Given the description of an element on the screen output the (x, y) to click on. 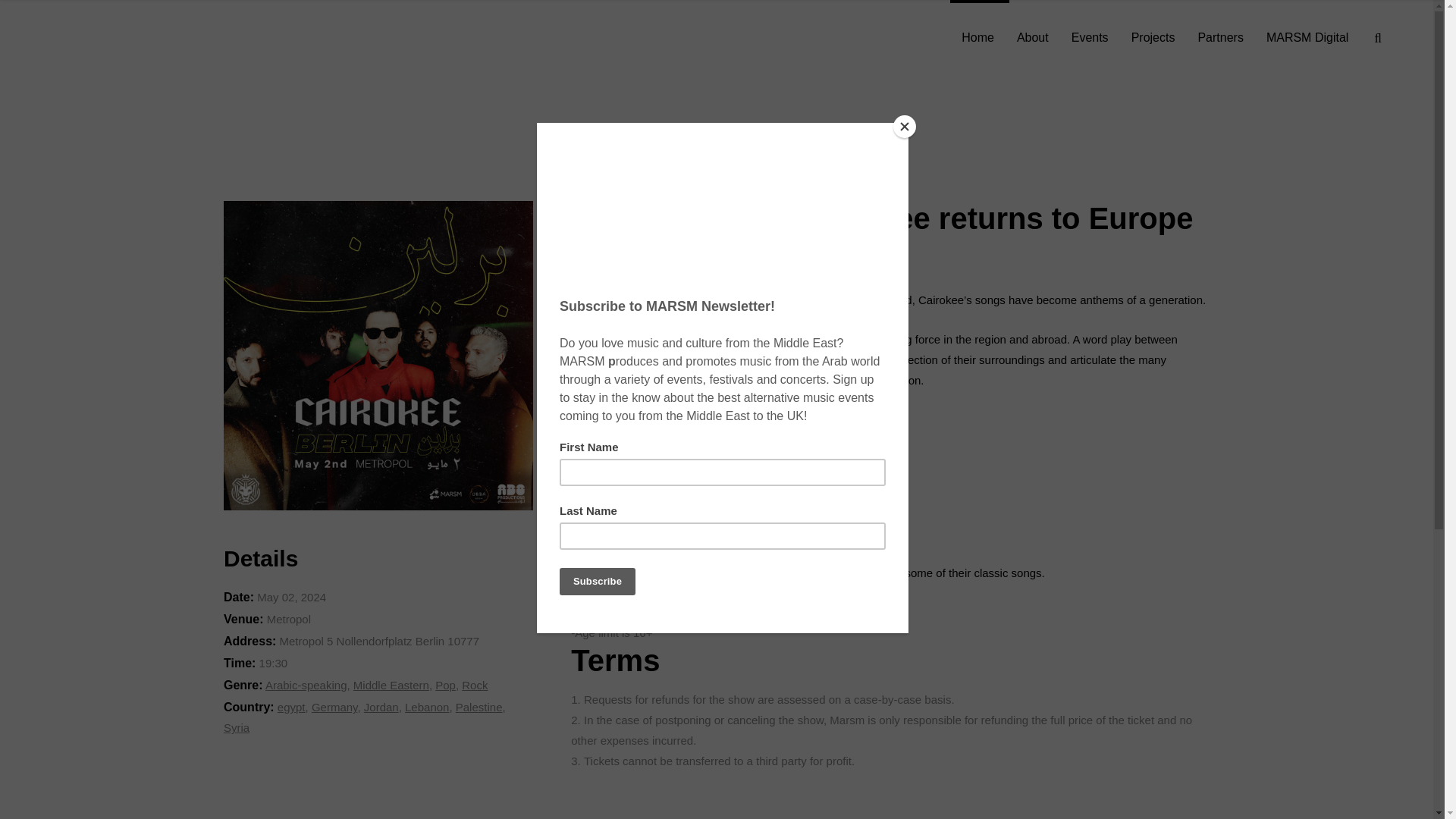
Partners (1219, 38)
MARSM Digital (1307, 38)
